Given the description of an element on the screen output the (x, y) to click on. 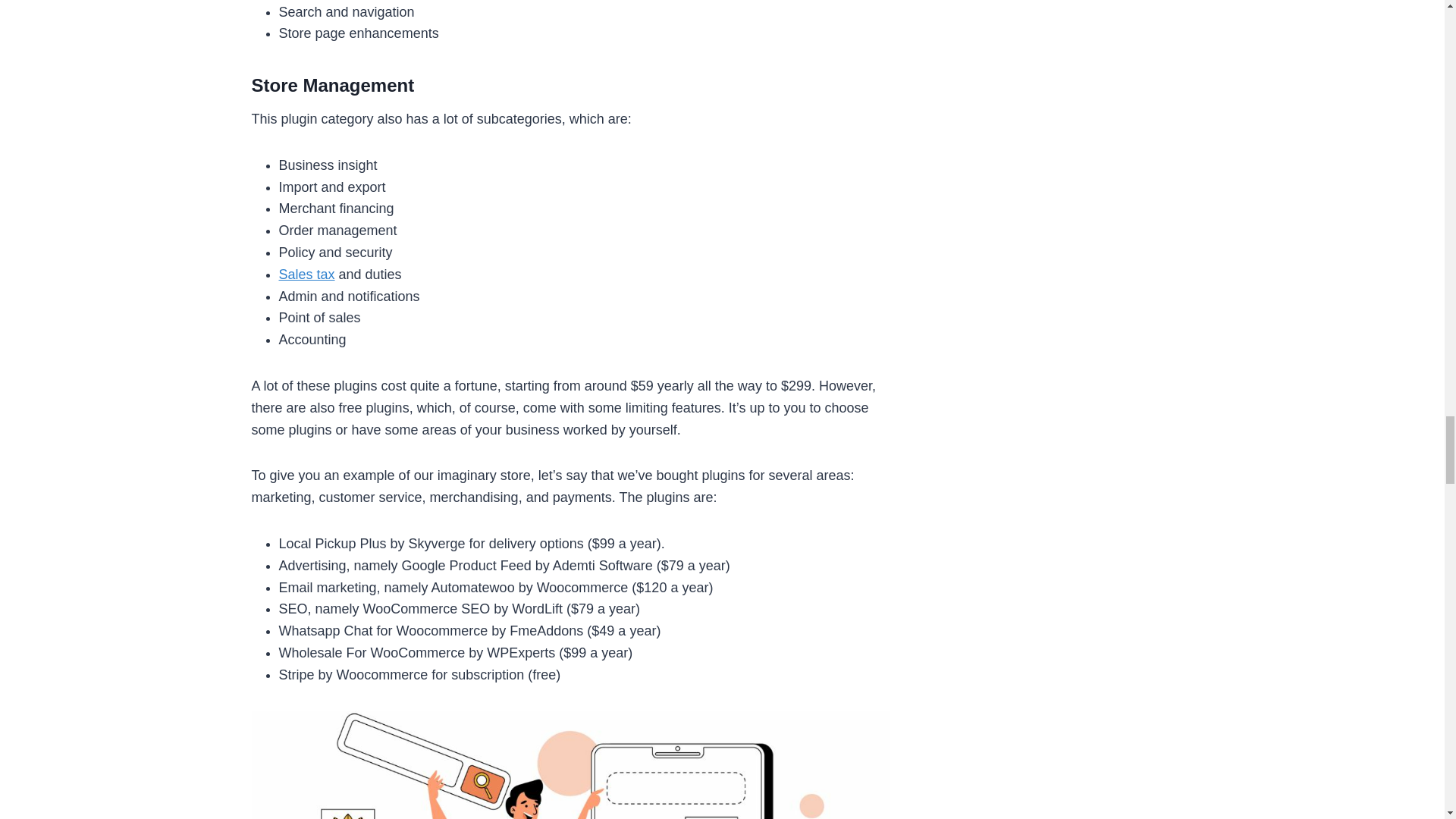
Sales tax (306, 273)
